Given the description of an element on the screen output the (x, y) to click on. 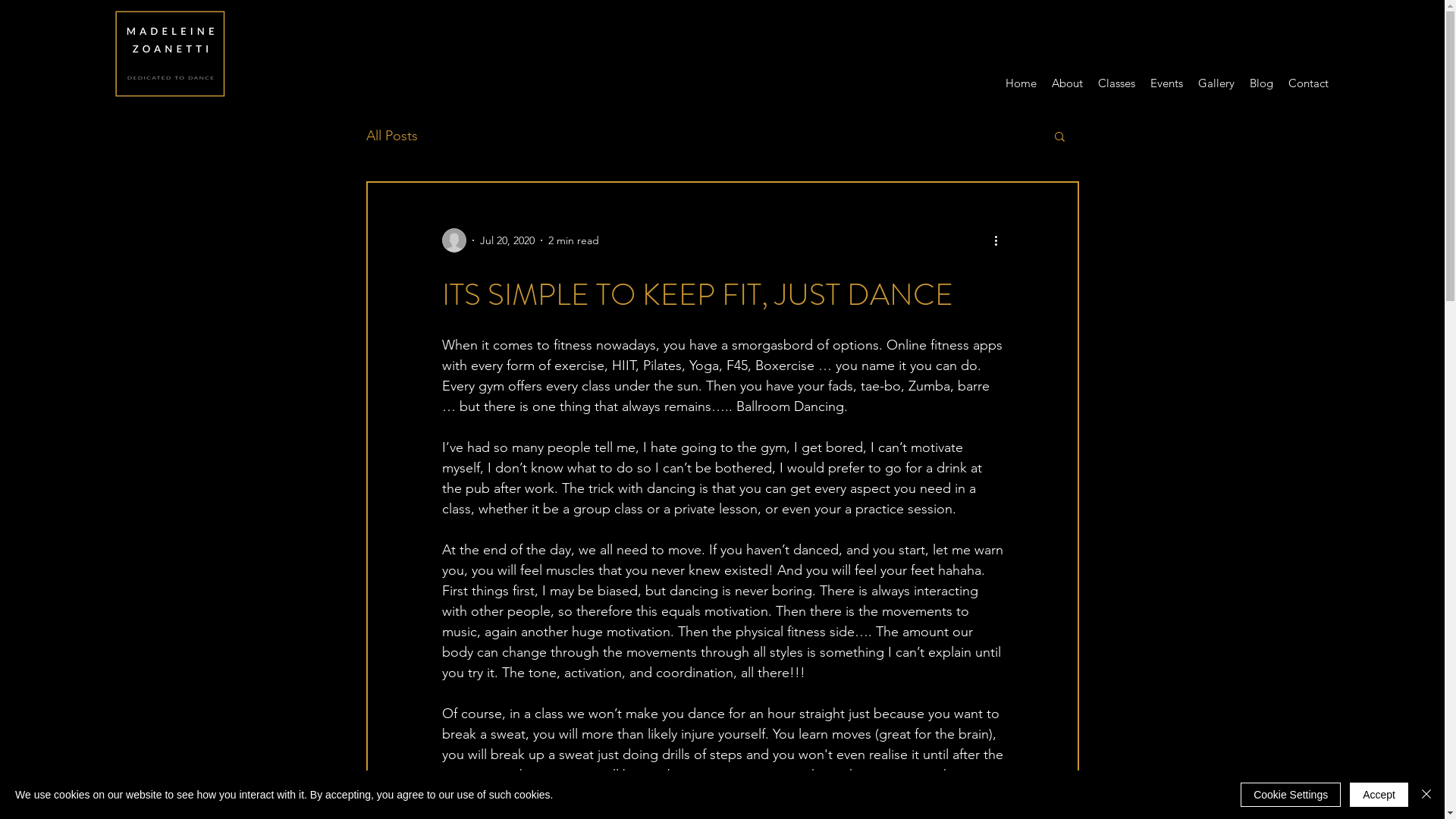
Cookie Settings Element type: text (1290, 794)
Classes Element type: text (1116, 82)
About Element type: text (1067, 82)
Blog Element type: text (1261, 82)
Home Element type: text (1020, 82)
All Posts Element type: text (391, 135)
Gallery Element type: text (1216, 82)
Events Element type: text (1166, 82)
Contact Element type: text (1308, 82)
Accept Element type: text (1378, 794)
